Given the description of an element on the screen output the (x, y) to click on. 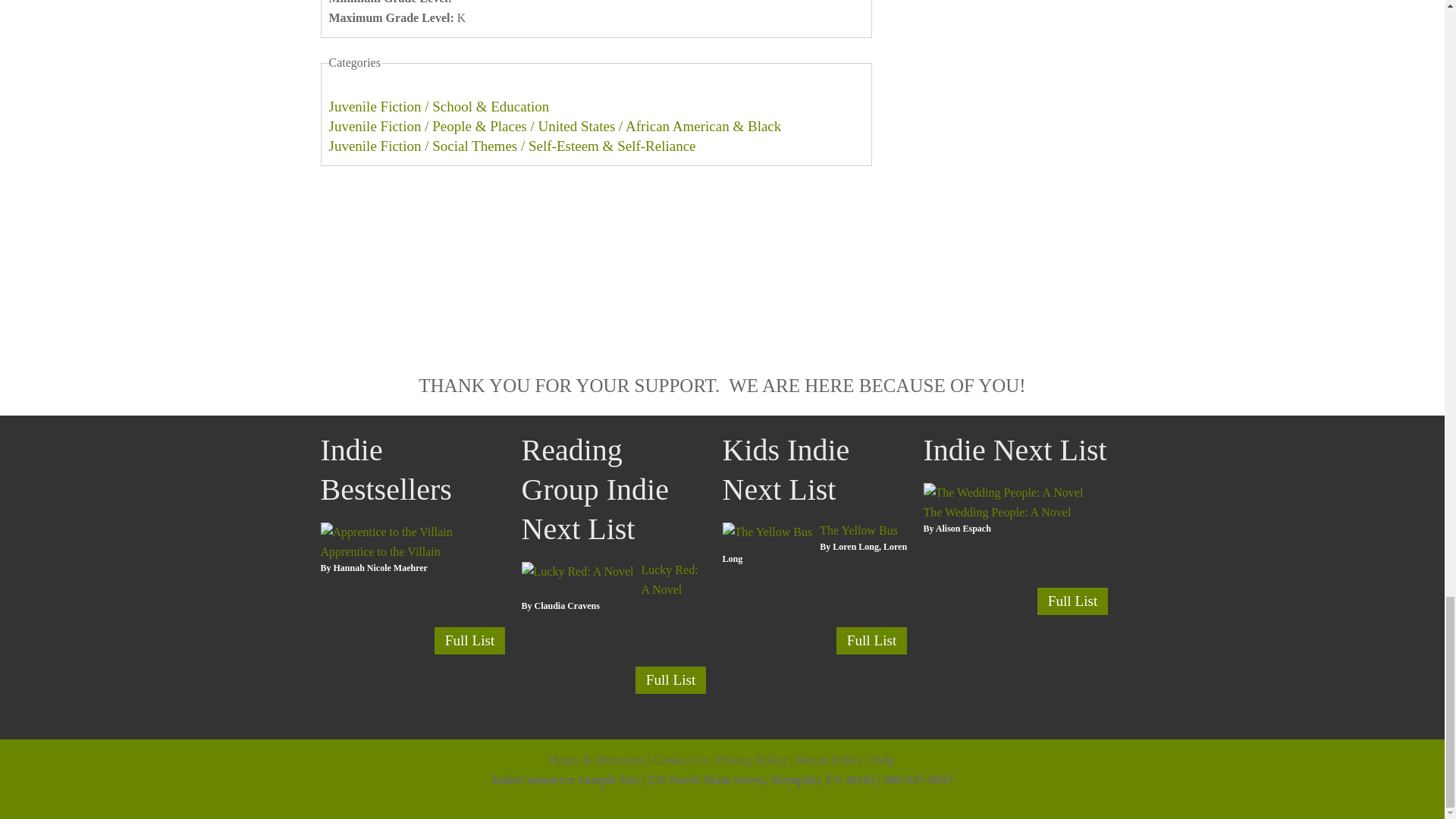
Apprentice to the Villain - by Hannah Nicole Maehrer (379, 551)
Apprentice to the Villain - by Hannah Nicole Maehrer (385, 530)
The Yellow Bus - by Loren Long, Loren Long (858, 530)
Lucky Red: A Novel - by Claudia Cravens (668, 579)
The Yellow Bus - by Loren Long, Loren Long (767, 530)
Lucky Red: A Novel (668, 579)
Lucky Red: A Novel - by Claudia Cravens (577, 569)
The Wedding People: A Novel - by Alison Espach (1003, 490)
Full List (670, 679)
Full List (469, 640)
